Given the description of an element on the screen output the (x, y) to click on. 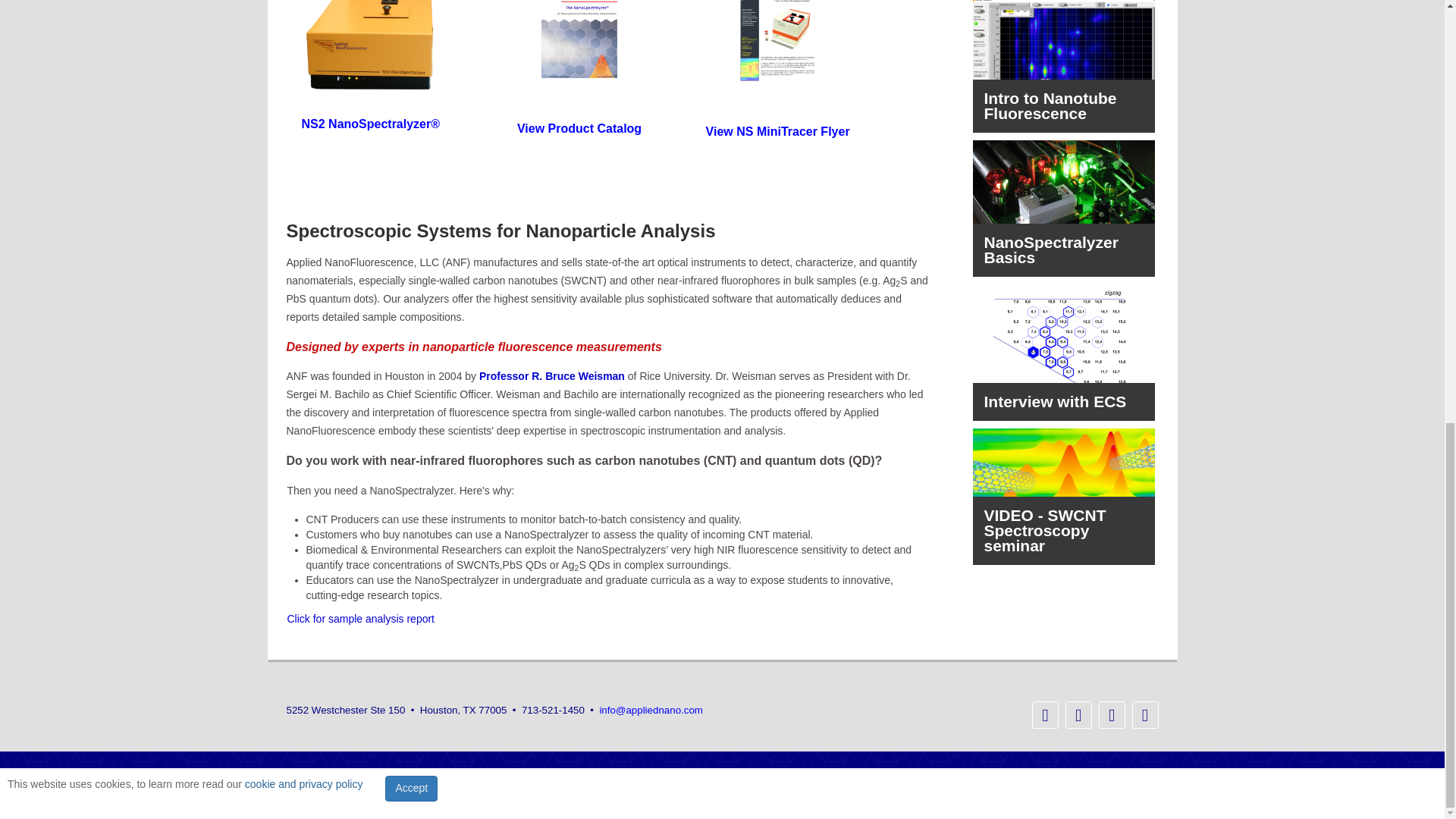
Typical nanotube analysis (359, 618)
Terms and Conditions (940, 778)
Cookie Policy (1104, 778)
